Given the description of an element on the screen output the (x, y) to click on. 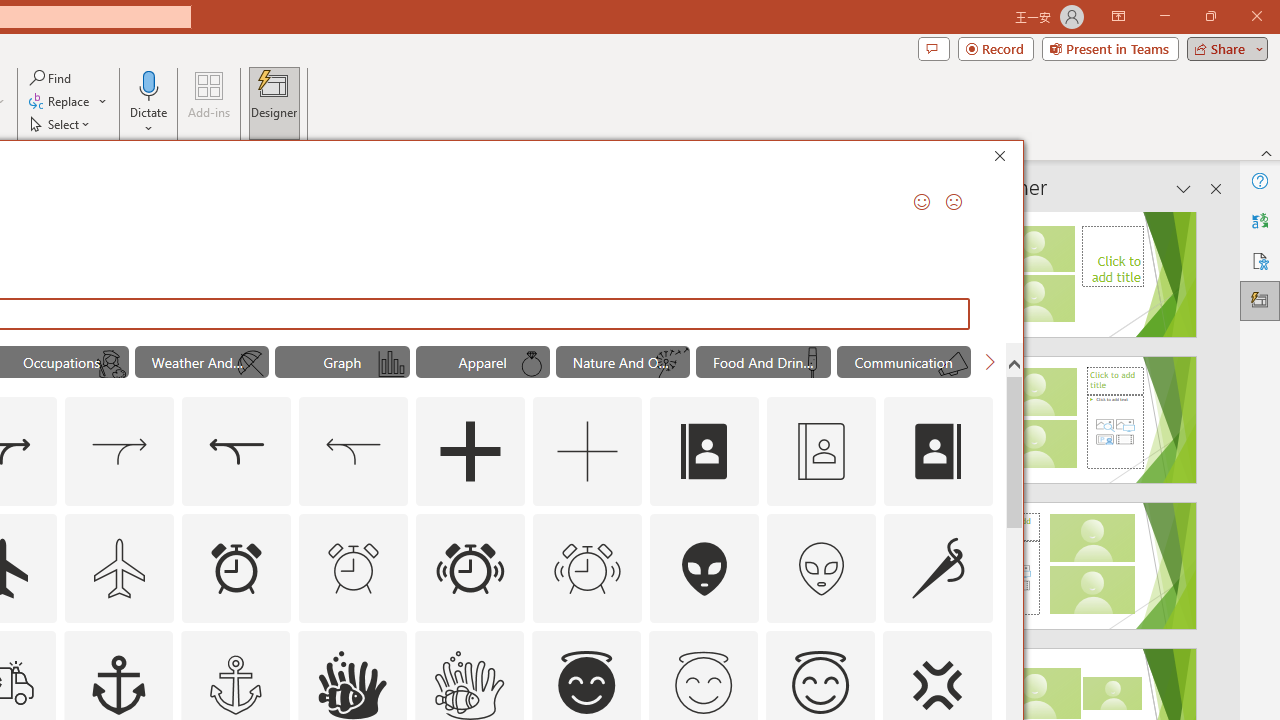
AutomationID: Icons_ArtistFemale_M (111, 364)
AutomationID: Icons_BarChart_LTR_M (391, 364)
AutomationID: Icons_Add_M (587, 452)
AutomationID: Icons_AlienFace (705, 568)
"Graph" Icons. (342, 362)
Next Search Suggestion (990, 362)
"Communication" Icons. (904, 362)
